Given the description of an element on the screen output the (x, y) to click on. 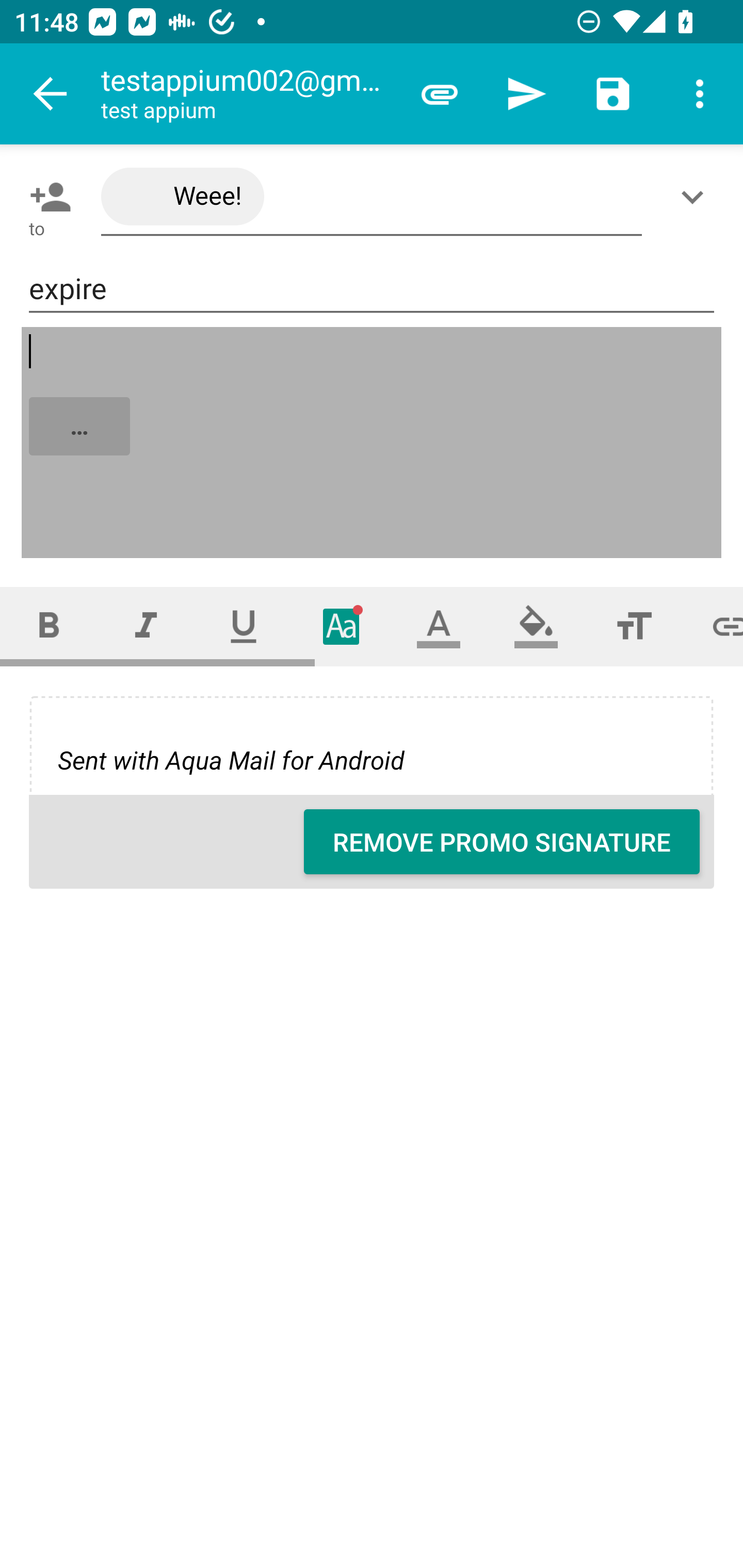
Navigate up (50, 93)
testappium002@gmail.com test appium (248, 93)
Attach (439, 93)
Send (525, 93)
Save (612, 93)
More options (699, 93)
Weee! <hello@mktg.sayweee.com>,  (371, 197)
Pick contact: To (46, 196)
Show/Add CC/BCC (696, 196)
expire (371, 288)

…
 (372, 442)
Bold (48, 626)
Italic (145, 626)
Underline (243, 626)
Typeface (font) (341, 626)
Text color (438, 626)
Fill color (536, 626)
Font size (633, 626)
REMOVE PROMO SIGNATURE (501, 841)
